Given the description of an element on the screen output the (x, y) to click on. 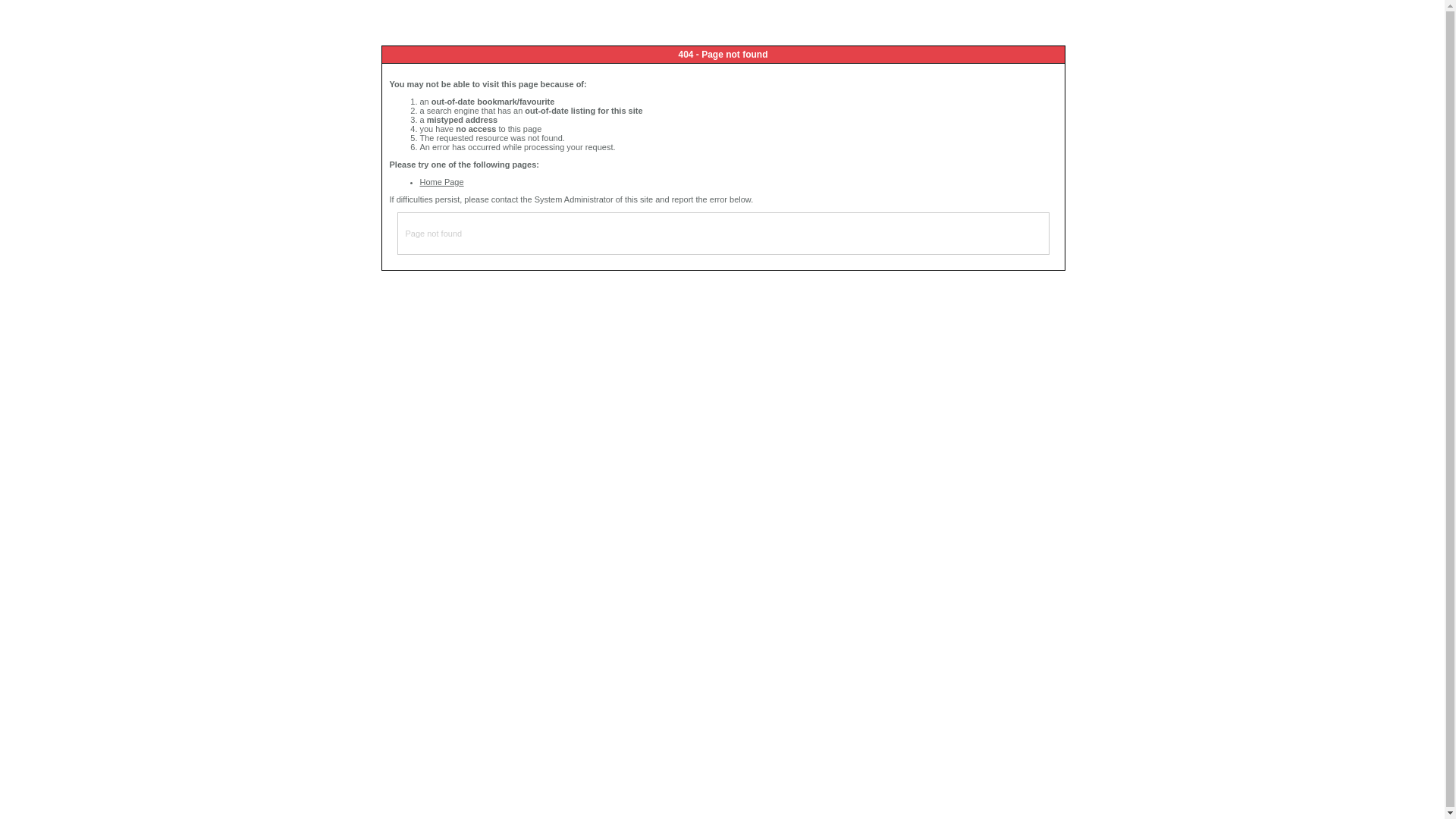
Home Page Element type: text (442, 181)
